Given the description of an element on the screen output the (x, y) to click on. 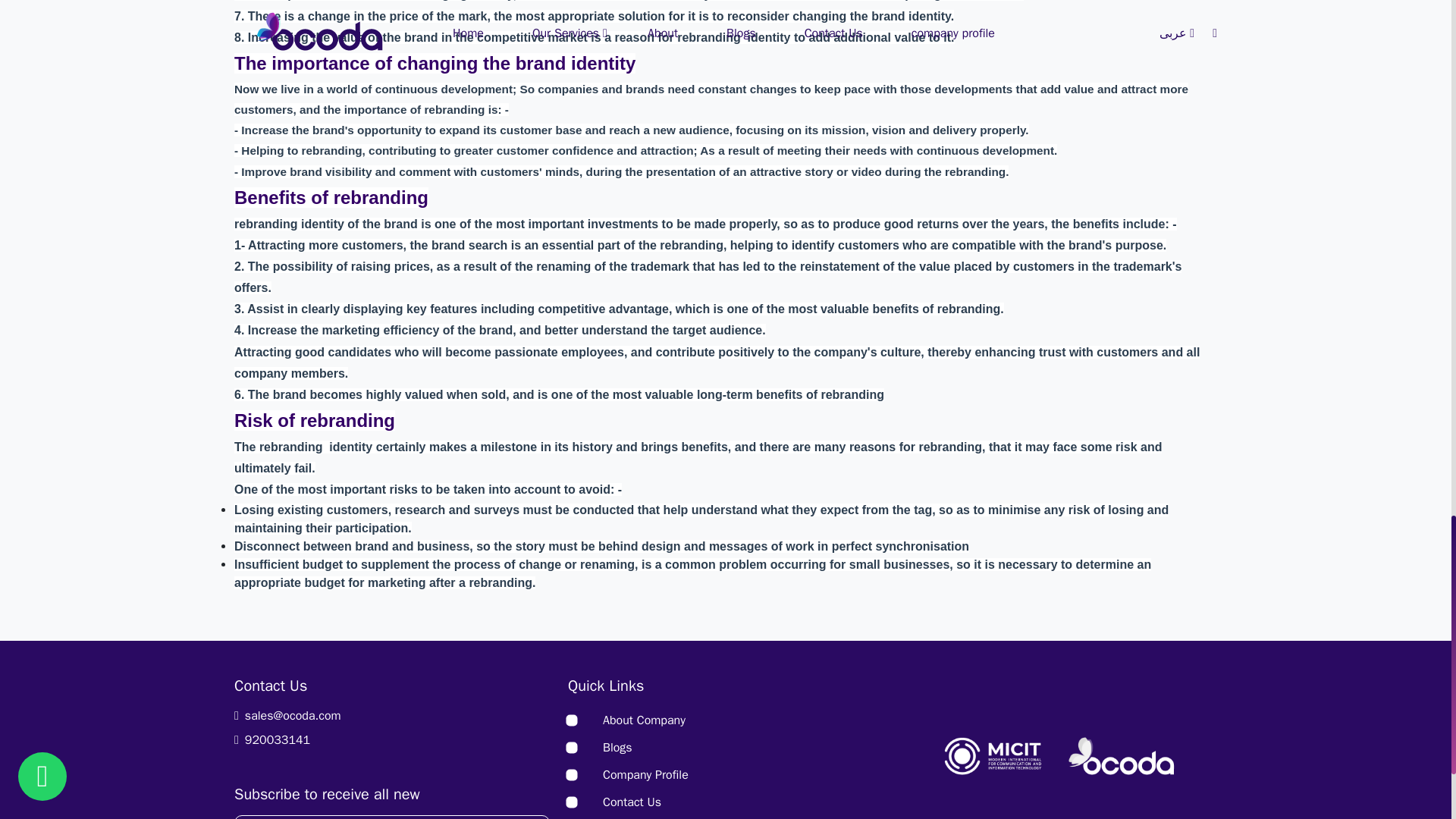
Company Profile (645, 774)
About Company (643, 720)
920033141 (392, 740)
Contact Us (631, 801)
Blogs (616, 747)
